Given the description of an element on the screen output the (x, y) to click on. 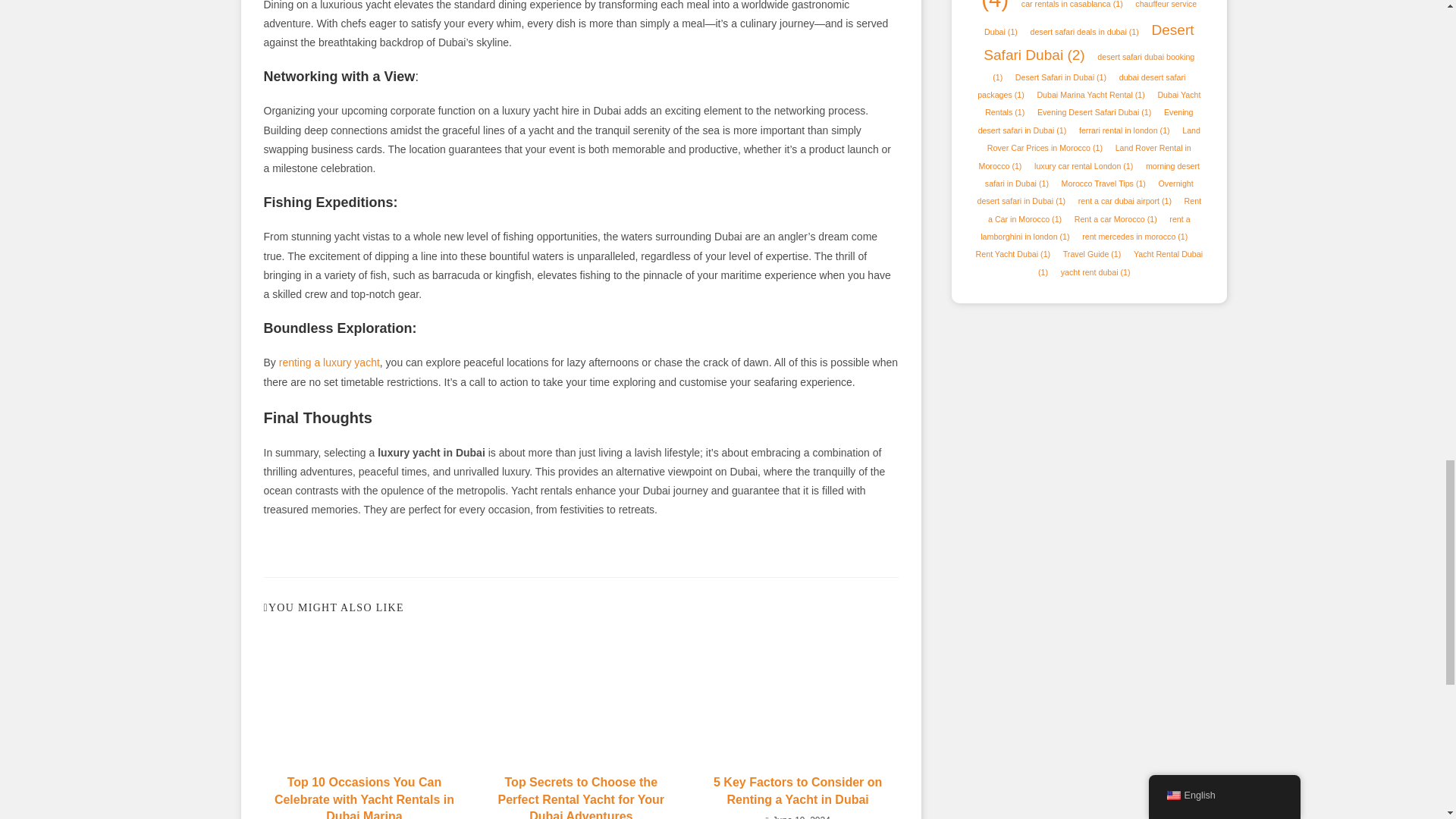
5 Key Factors to Consider on Renting a Yacht in Dubai (797, 790)
